Given the description of an element on the screen output the (x, y) to click on. 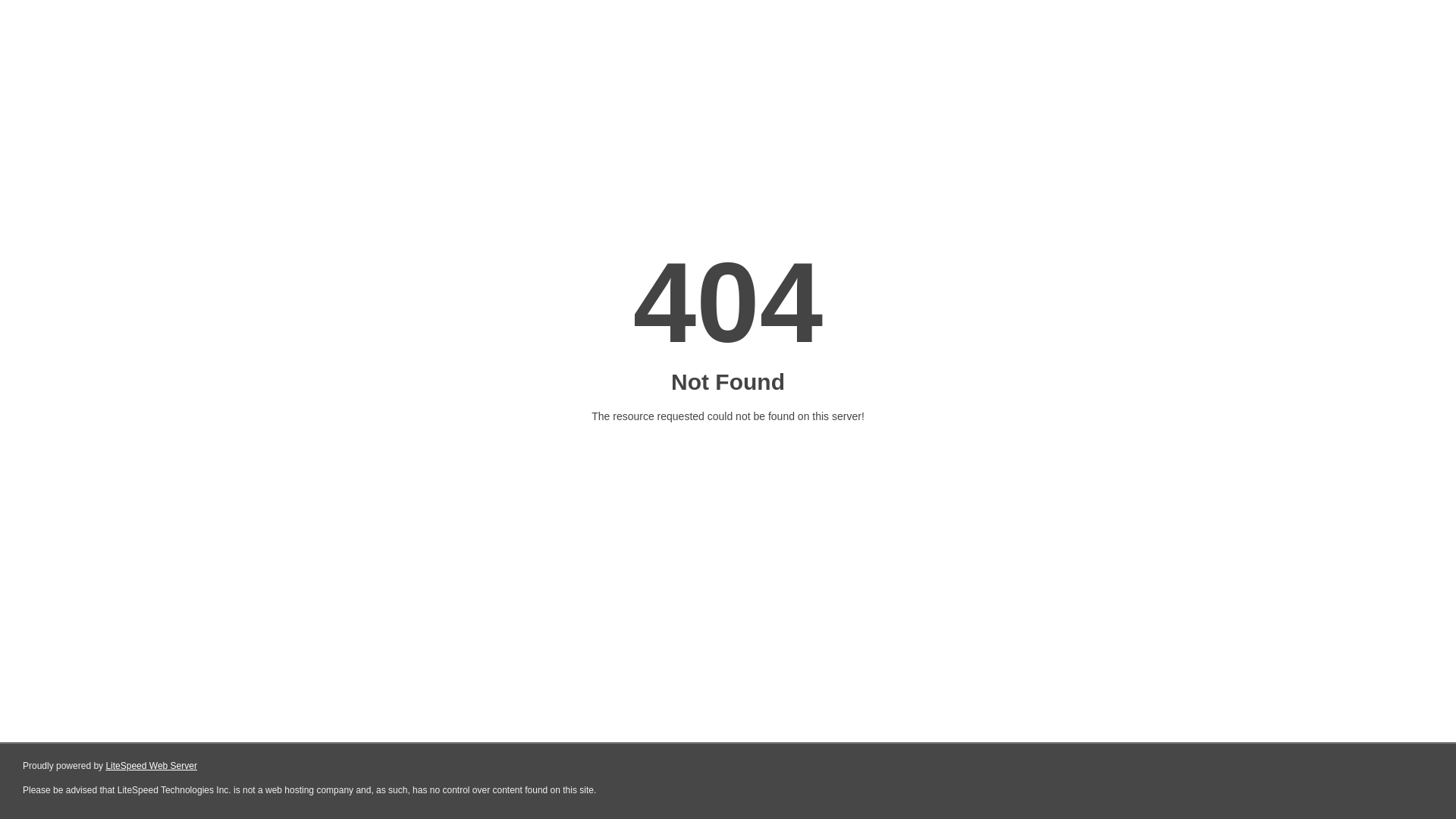
LiteSpeed Web Server Element type: text (151, 765)
